Given the description of an element on the screen output the (x, y) to click on. 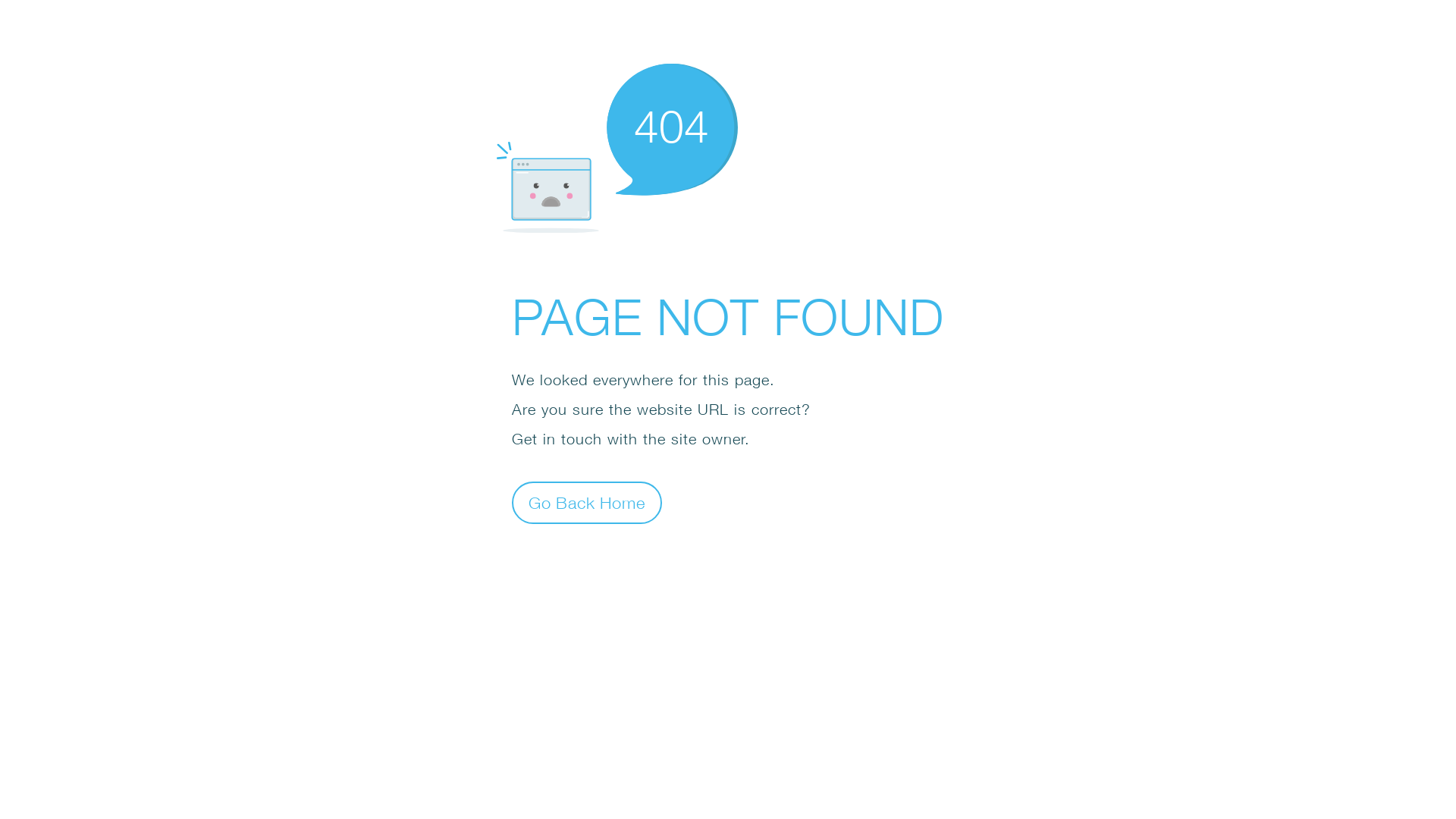
Go Back Home Element type: text (586, 502)
